Given the description of an element on the screen output the (x, y) to click on. 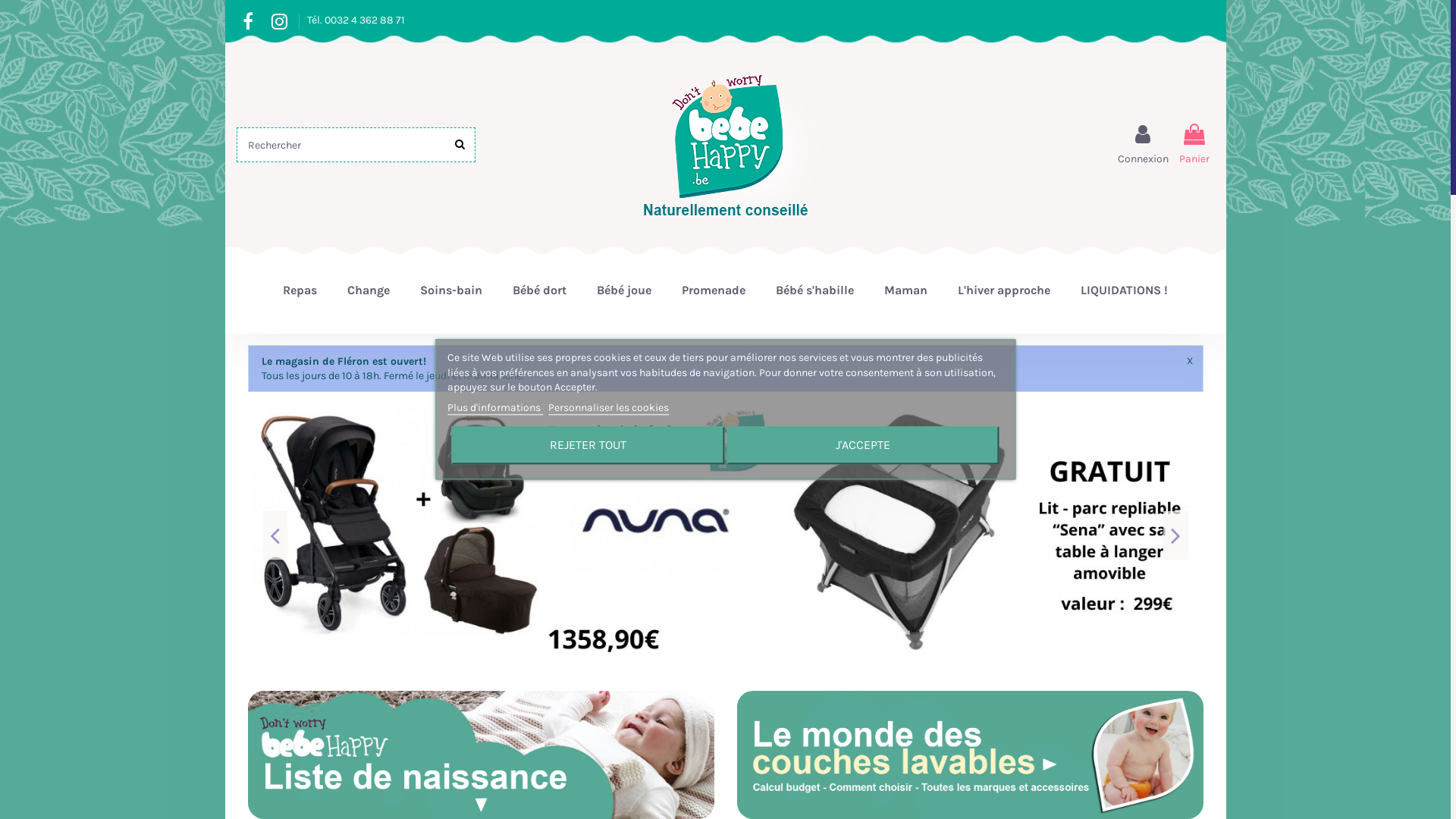
Change Element type: text (368, 290)
Connexion Element type: text (1142, 144)
REJETER TOUT Element type: text (587, 445)
Soins-bain Element type: text (450, 290)
J'ACCEPTE Element type: text (862, 445)
Maman Element type: text (905, 290)
Panier Element type: text (1193, 144)
LIQUIDATIONS ! Element type: text (1124, 290)
Personnaliser les cookies Element type: text (608, 407)
Repas Element type: text (299, 290)
L'hiver approche Element type: text (1003, 290)
Plus d'informations Element type: text (494, 407)
Promenade Element type: text (713, 290)
X Element type: text (1189, 360)
